Given the description of an element on the screen output the (x, y) to click on. 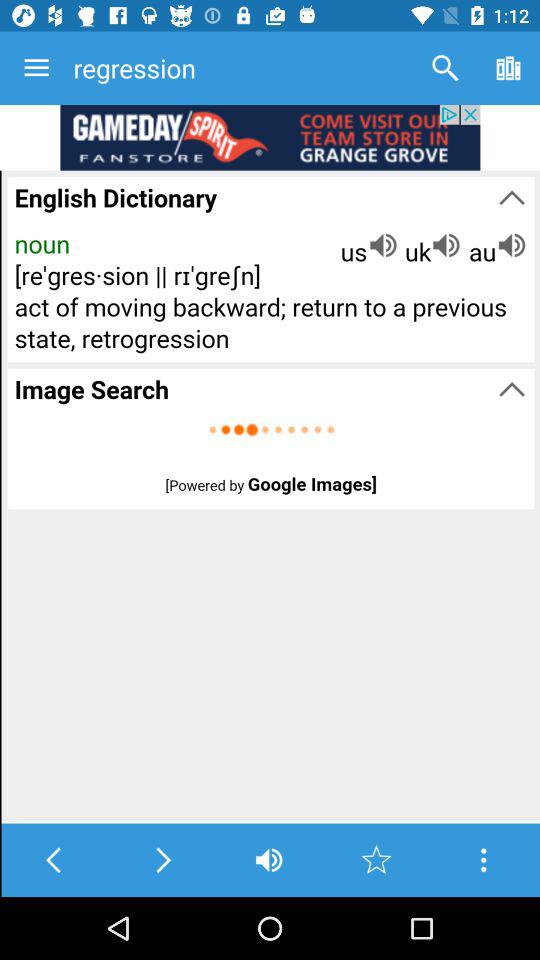
hear prononciation of word (268, 859)
